Given the description of an element on the screen output the (x, y) to click on. 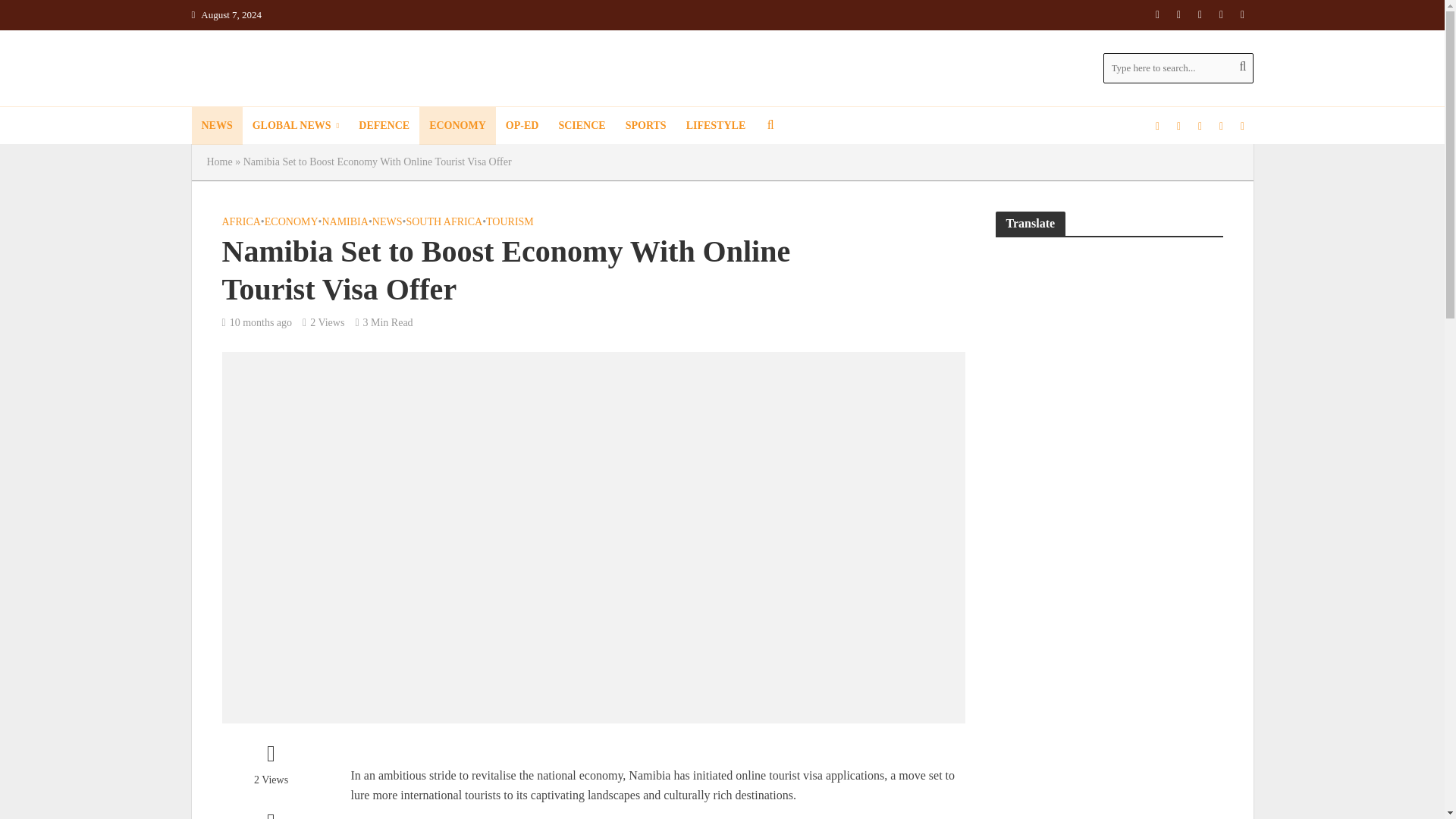
GLOBAL NEWS (296, 125)
NEWS (215, 125)
